Given the description of an element on the screen output the (x, y) to click on. 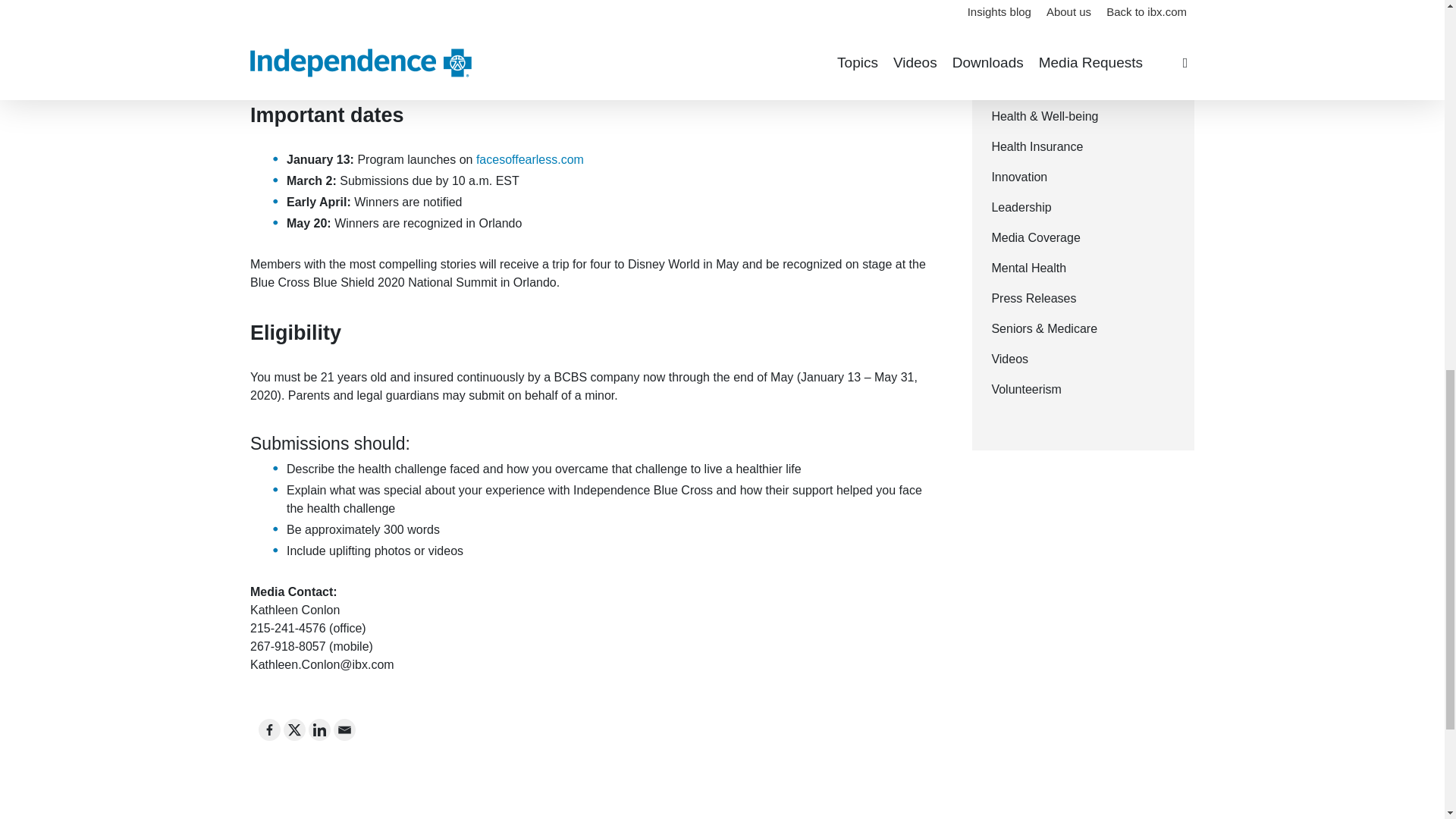
Email (344, 730)
X (294, 730)
Facebook (270, 730)
Linkedin (319, 730)
